Given the description of an element on the screen output the (x, y) to click on. 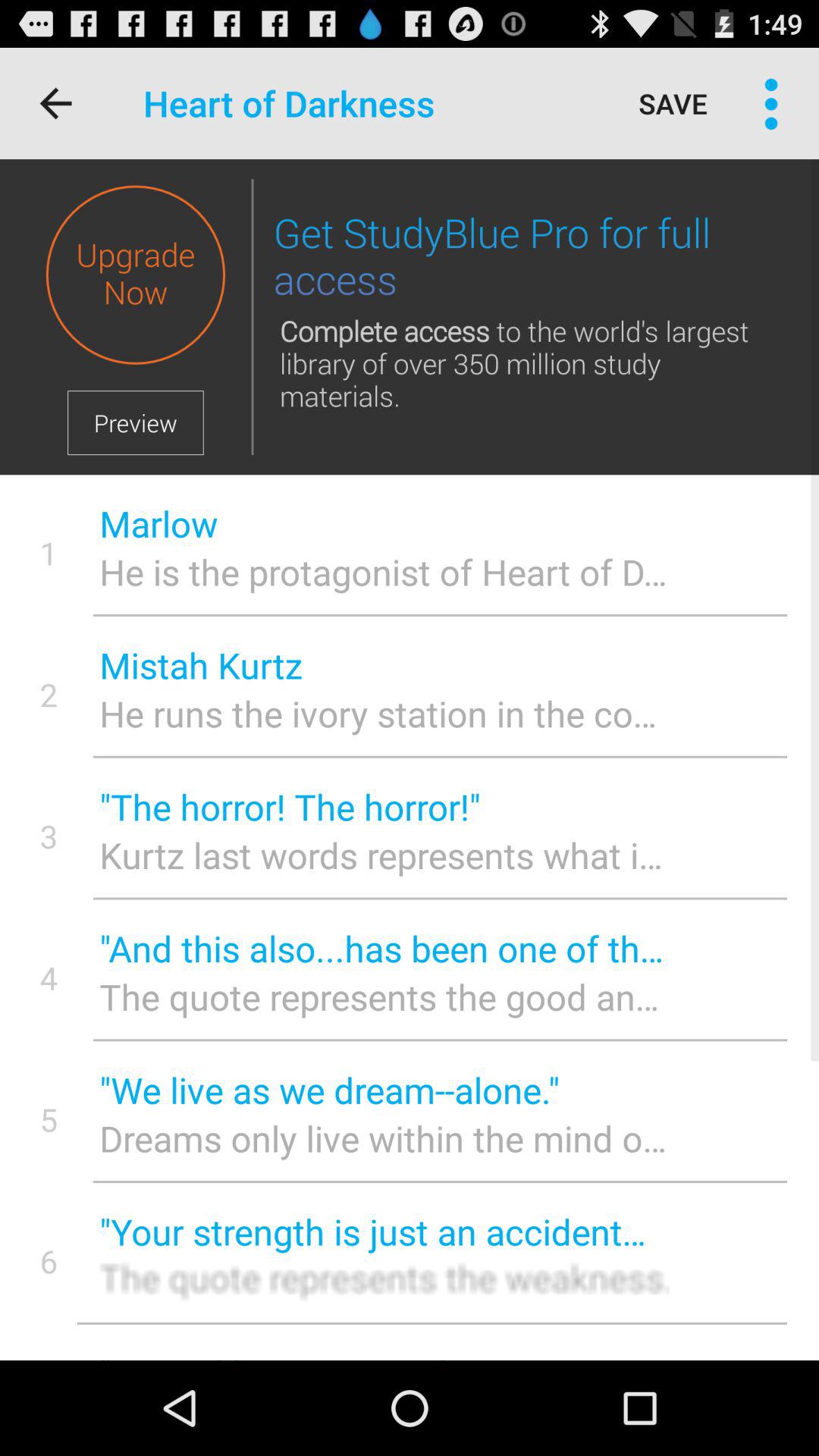
select item next to 6 item (384, 1231)
